Given the description of an element on the screen output the (x, y) to click on. 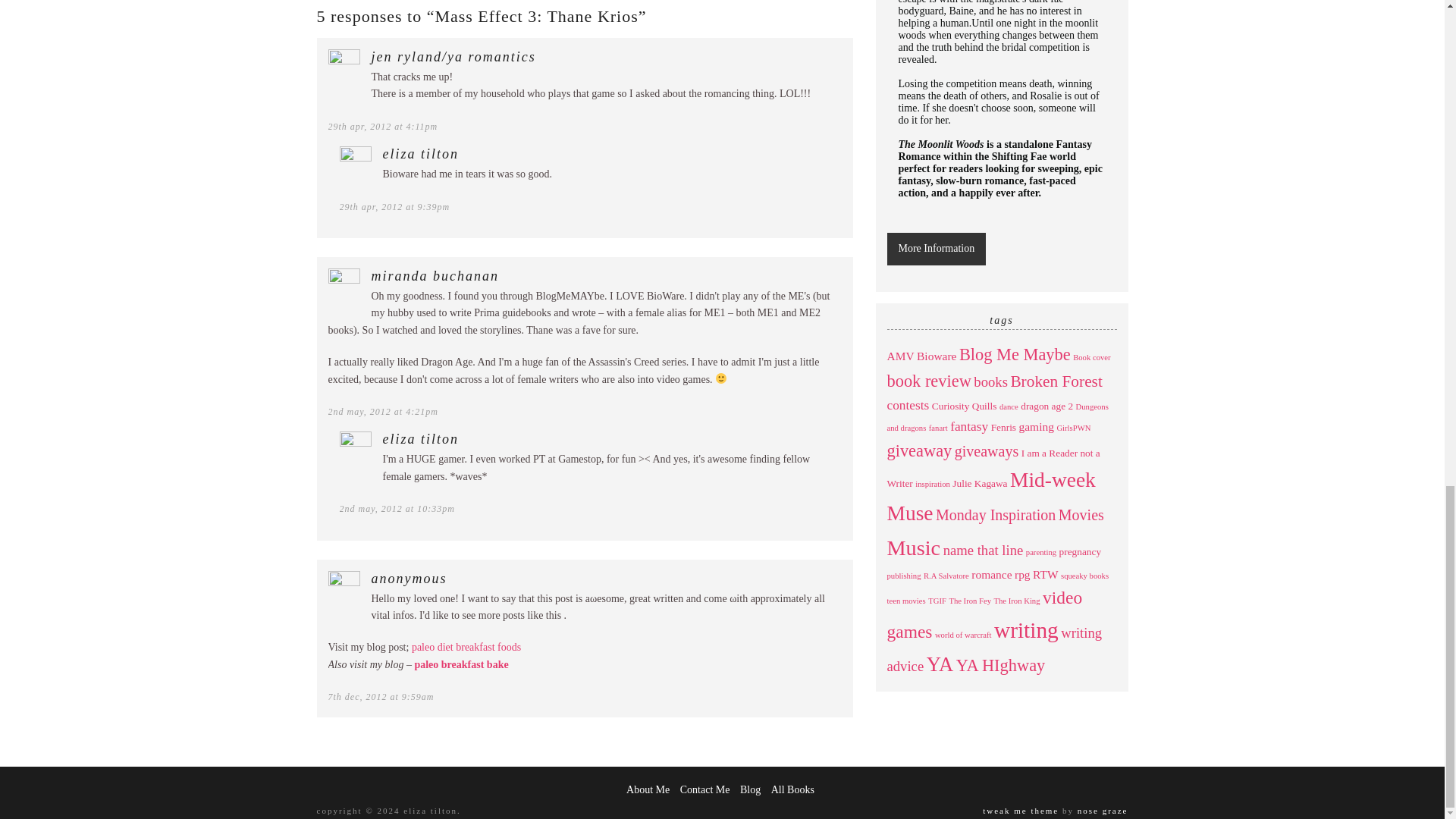
29th apr, 2012 at 4:11pm (382, 126)
7th dec, 2012 at 9:59am (380, 696)
eliza tilton (419, 438)
2nd may, 2012 at 10:33pm (396, 508)
miranda buchanan (435, 275)
paleo diet breakfast foods (466, 646)
2nd may, 2012 at 4:21pm (382, 411)
eliza tilton (419, 153)
paleo breakfast bake (460, 664)
29th apr, 2012 at 9:39pm (394, 206)
